Given the description of an element on the screen output the (x, y) to click on. 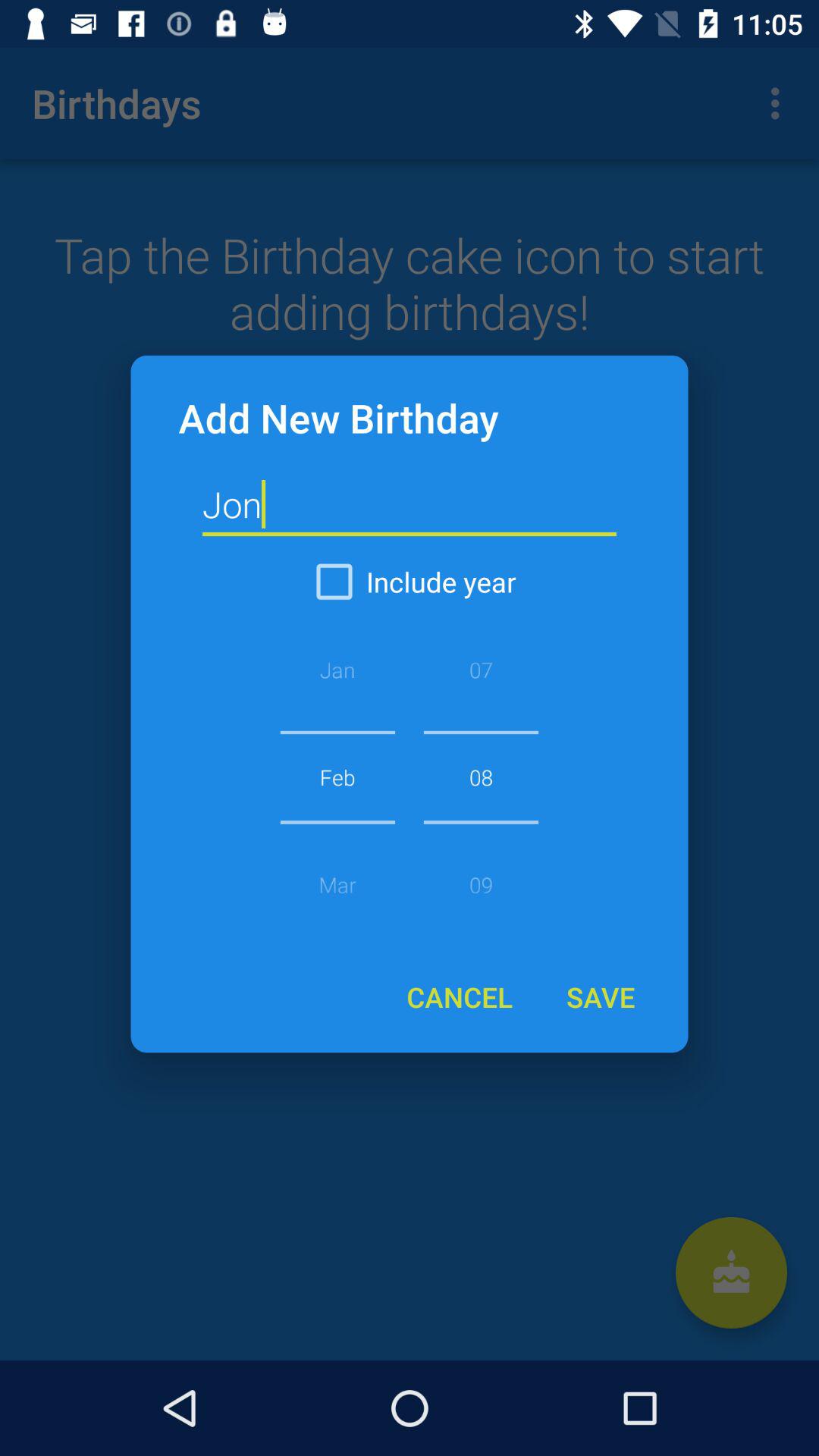
turn on icon below the jon (409, 581)
